Given the description of an element on the screen output the (x, y) to click on. 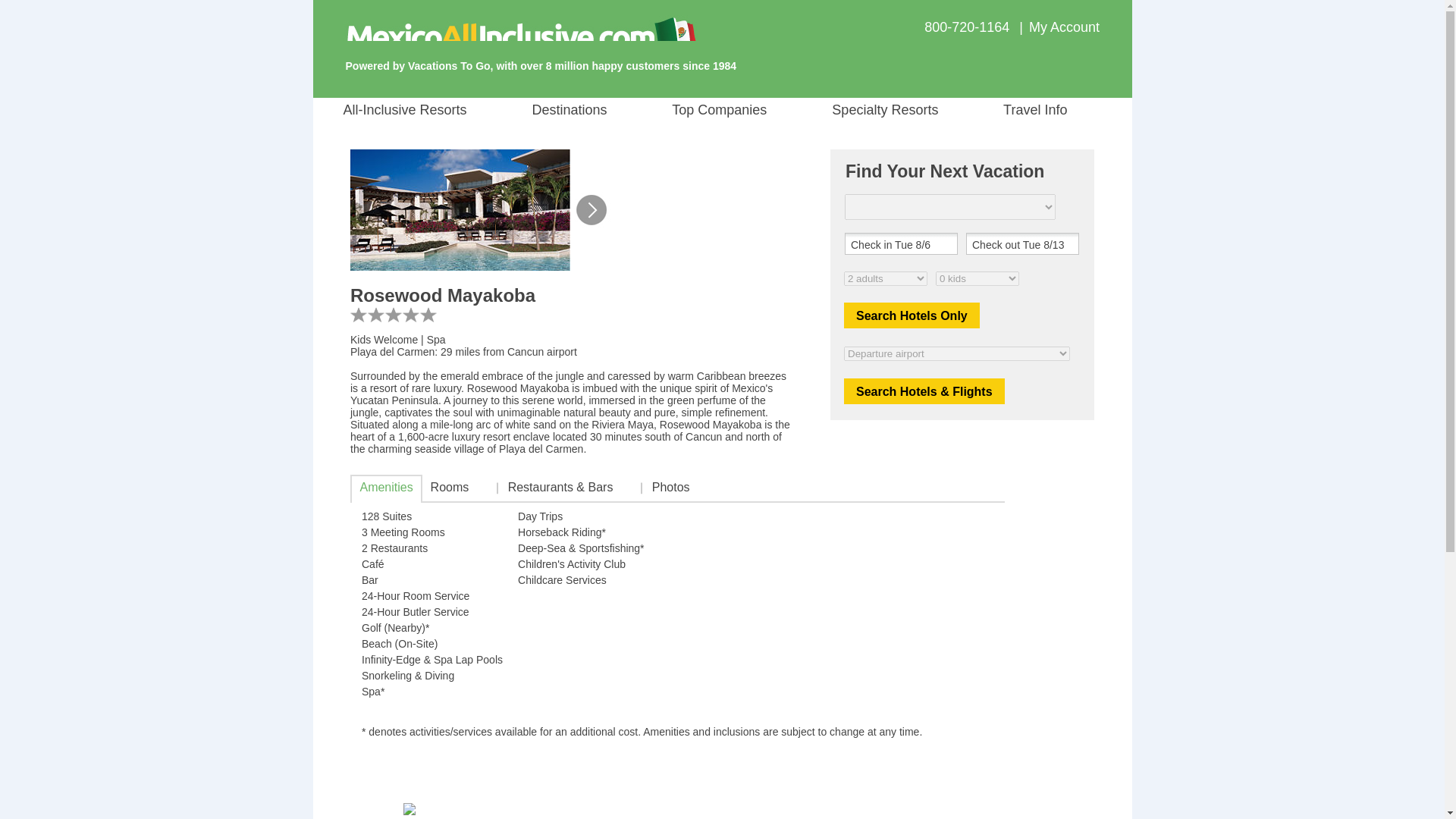
  Specialty Resorts (909, 109)
  Destinations (594, 109)
My Account (1064, 27)
Rosewood Mayakoba (590, 209)
Rosewood Mayakoba (460, 210)
All-Inclusive Resorts (433, 109)
  Top Companies (745, 109)
